Given the description of an element on the screen output the (x, y) to click on. 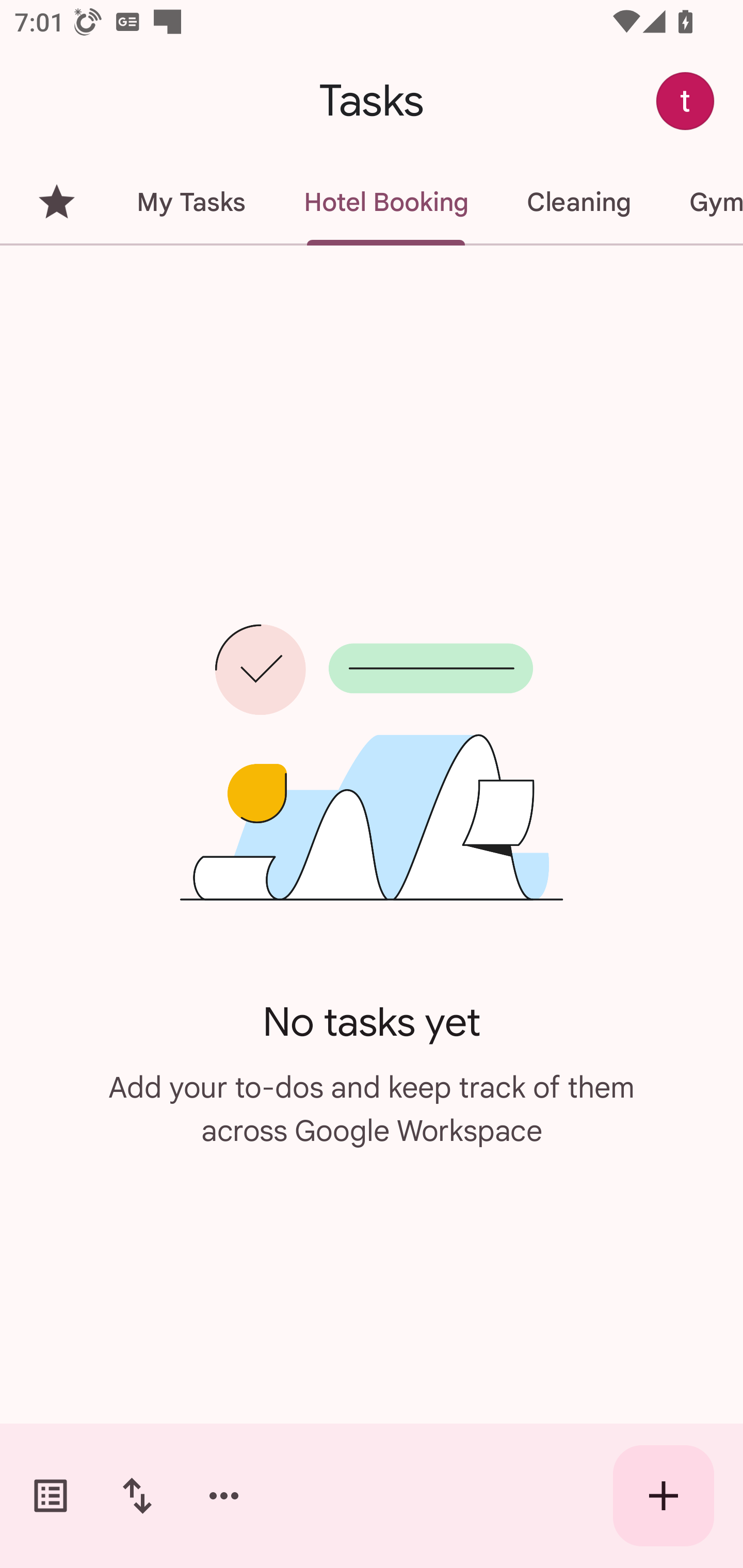
Starred (55, 202)
My Tasks (190, 202)
Cleaning (578, 202)
Gym (701, 202)
Switch task lists (50, 1495)
Create new task (663, 1495)
Change sort order (136, 1495)
More options (223, 1495)
